Given the description of an element on the screen output the (x, y) to click on. 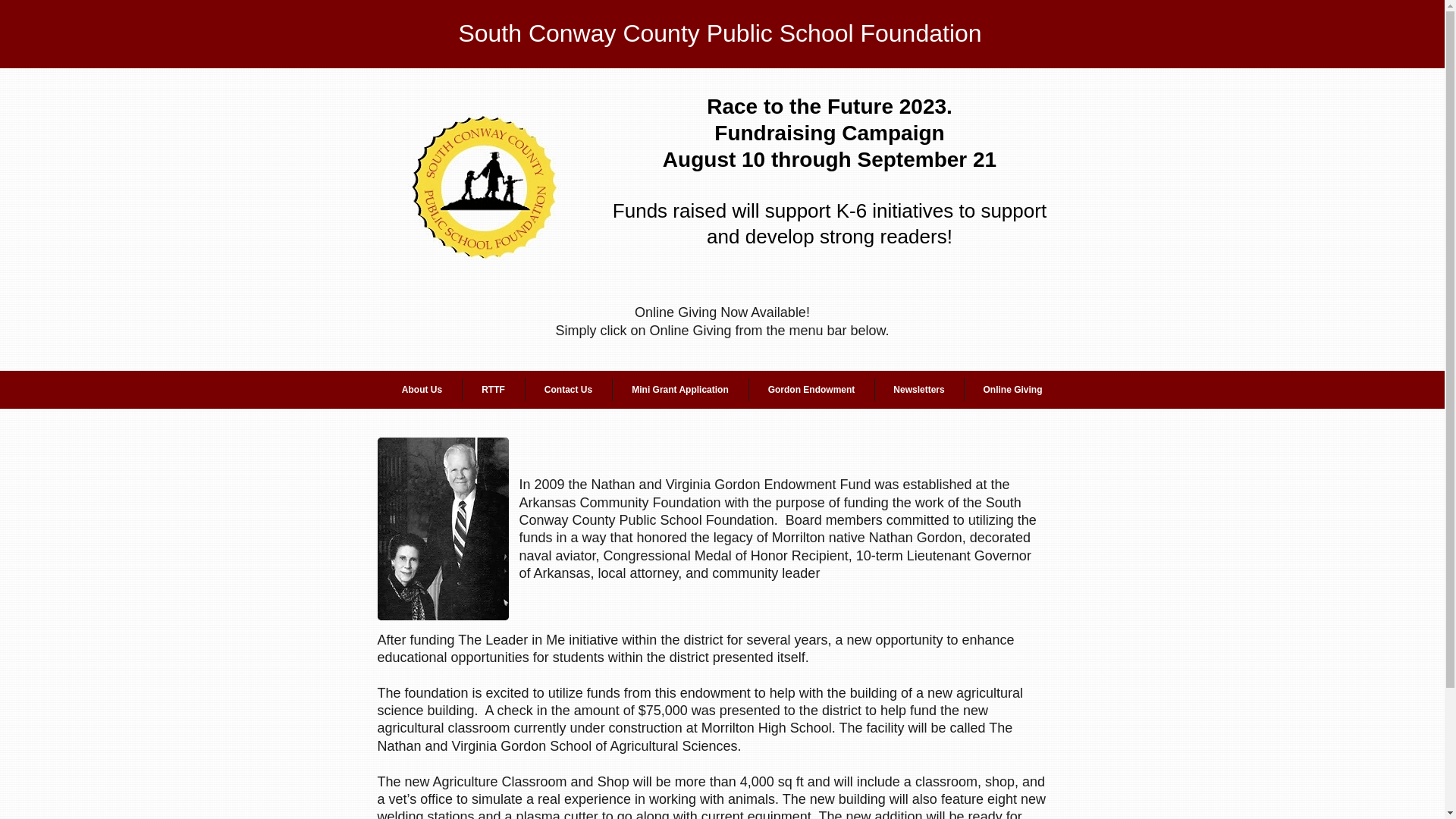
Online Giving (1012, 389)
Newsletters (919, 389)
Mini Grant Application (680, 389)
No Frame (480, 182)
Contact Us (567, 389)
About Us (421, 389)
Gordon Endowment (812, 389)
RTTF (493, 389)
